Given the description of an element on the screen output the (x, y) to click on. 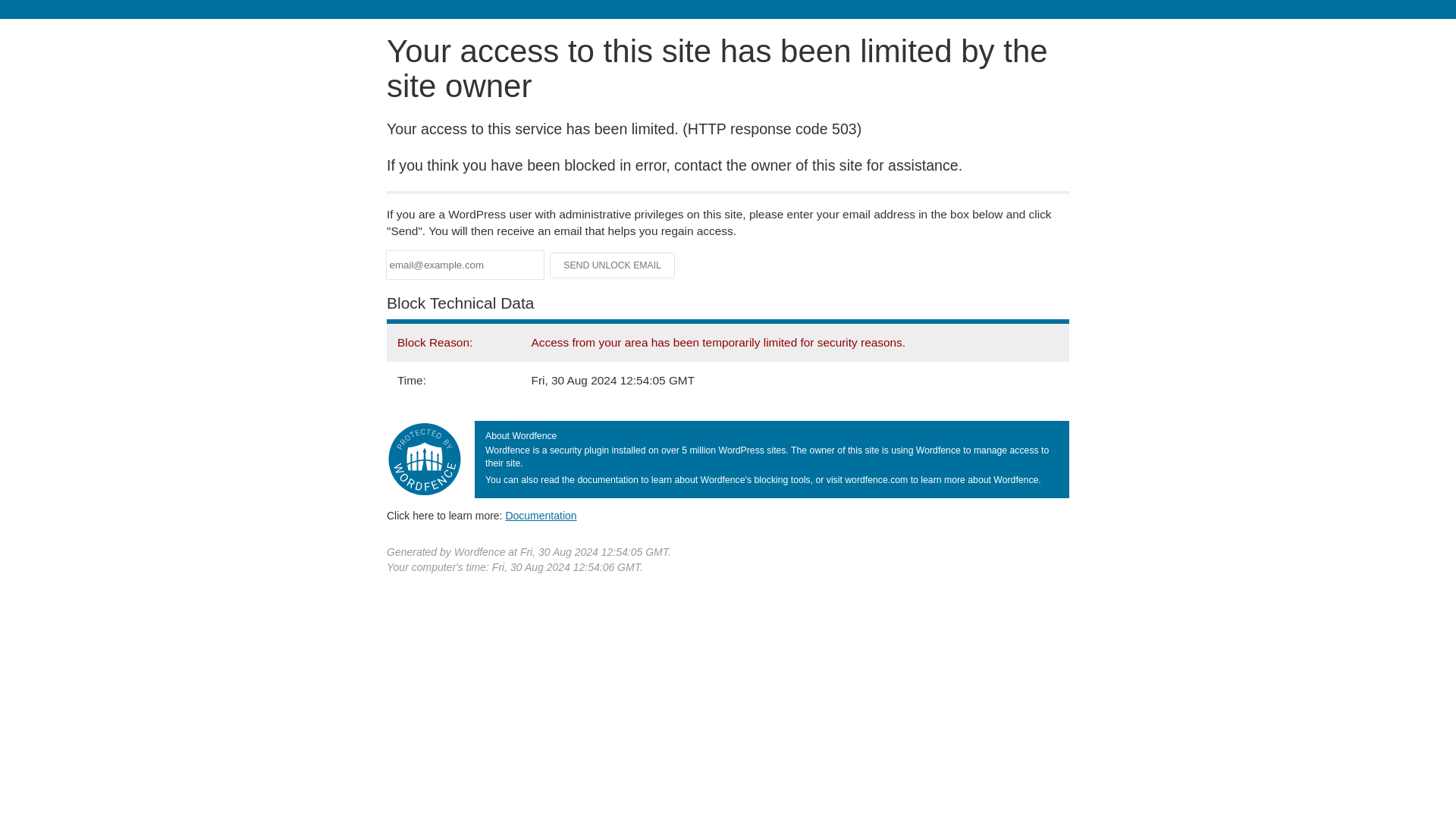
Send Unlock Email (612, 265)
Documentation (540, 515)
Send Unlock Email (612, 265)
